Given the description of an element on the screen output the (x, y) to click on. 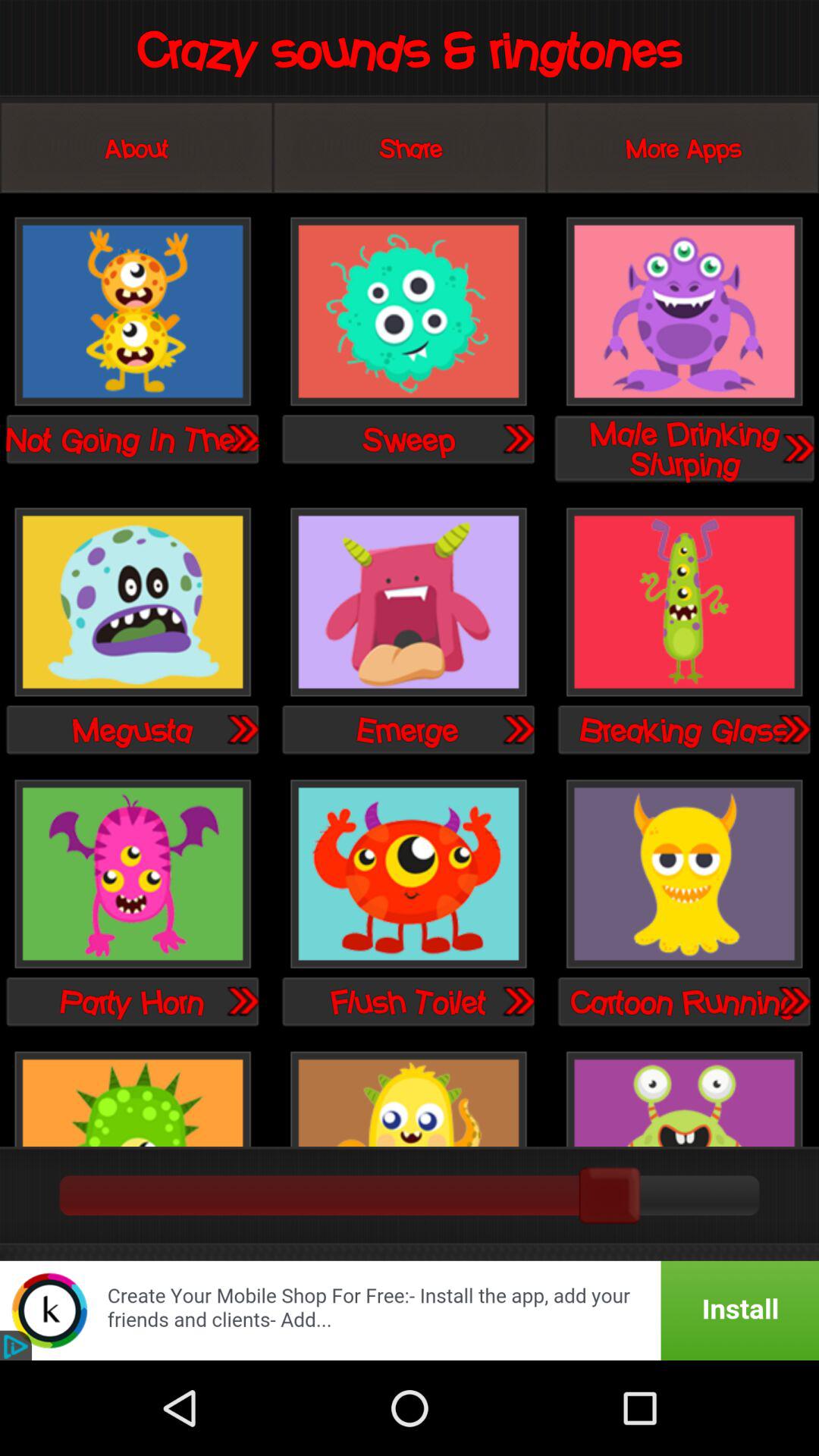
enter cartoon runnin page (793, 1000)
